Given the description of an element on the screen output the (x, y) to click on. 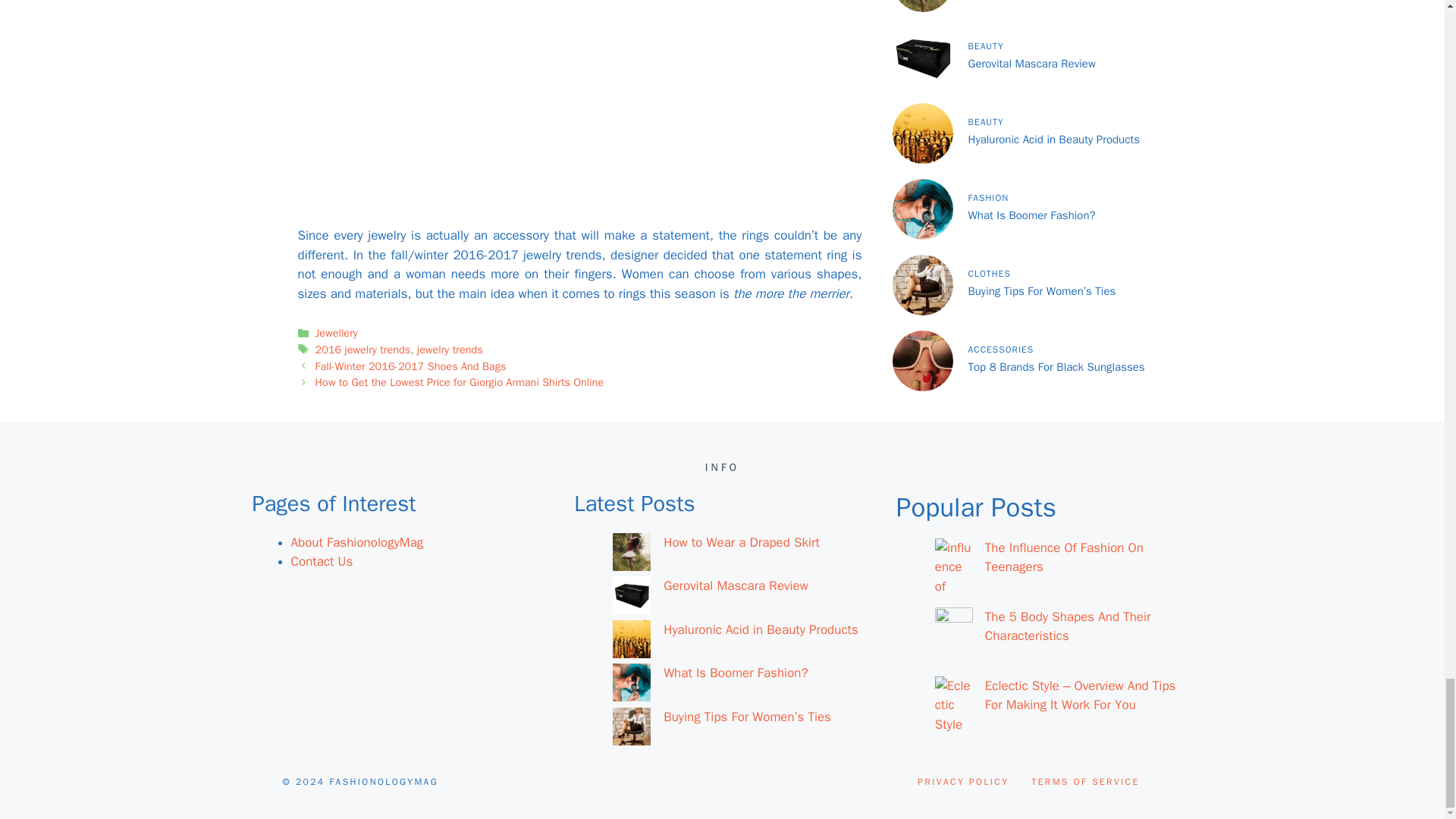
How to Get the Lowest Price for Giorgio Armani Shirts Online (459, 382)
About FashionologyMag (357, 542)
jewelry trends (449, 349)
Contact Us (322, 561)
How to Wear a Draped Skirt (741, 542)
Jewellery (336, 332)
Fall-Winter 2016-2017 Shoes And Bags (410, 366)
2016 jewelry trends (362, 349)
